Given the description of an element on the screen output the (x, y) to click on. 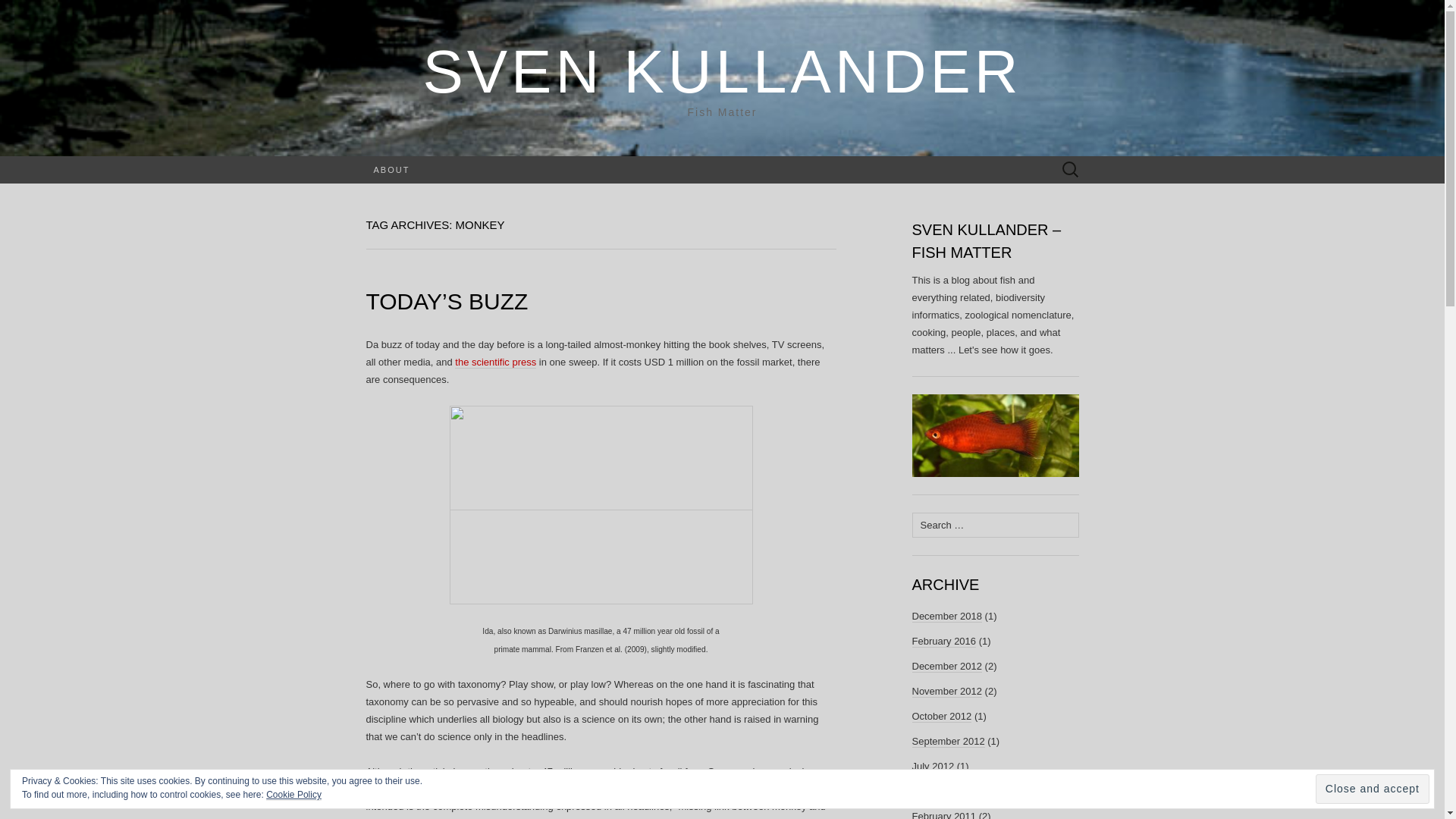
September 2012 (947, 741)
February 2011 (943, 814)
Close and accept (1372, 788)
Sven Kullander (722, 71)
December 2012 (946, 666)
November 2012 (946, 691)
October 2012 (941, 716)
the scientific press (494, 362)
Search (39, 12)
Search (16, 12)
July 2012 (932, 766)
February 2016 (943, 641)
SVEN KULLANDER (722, 71)
December 2018 (946, 616)
May 2011 (933, 791)
